Given the description of an element on the screen output the (x, y) to click on. 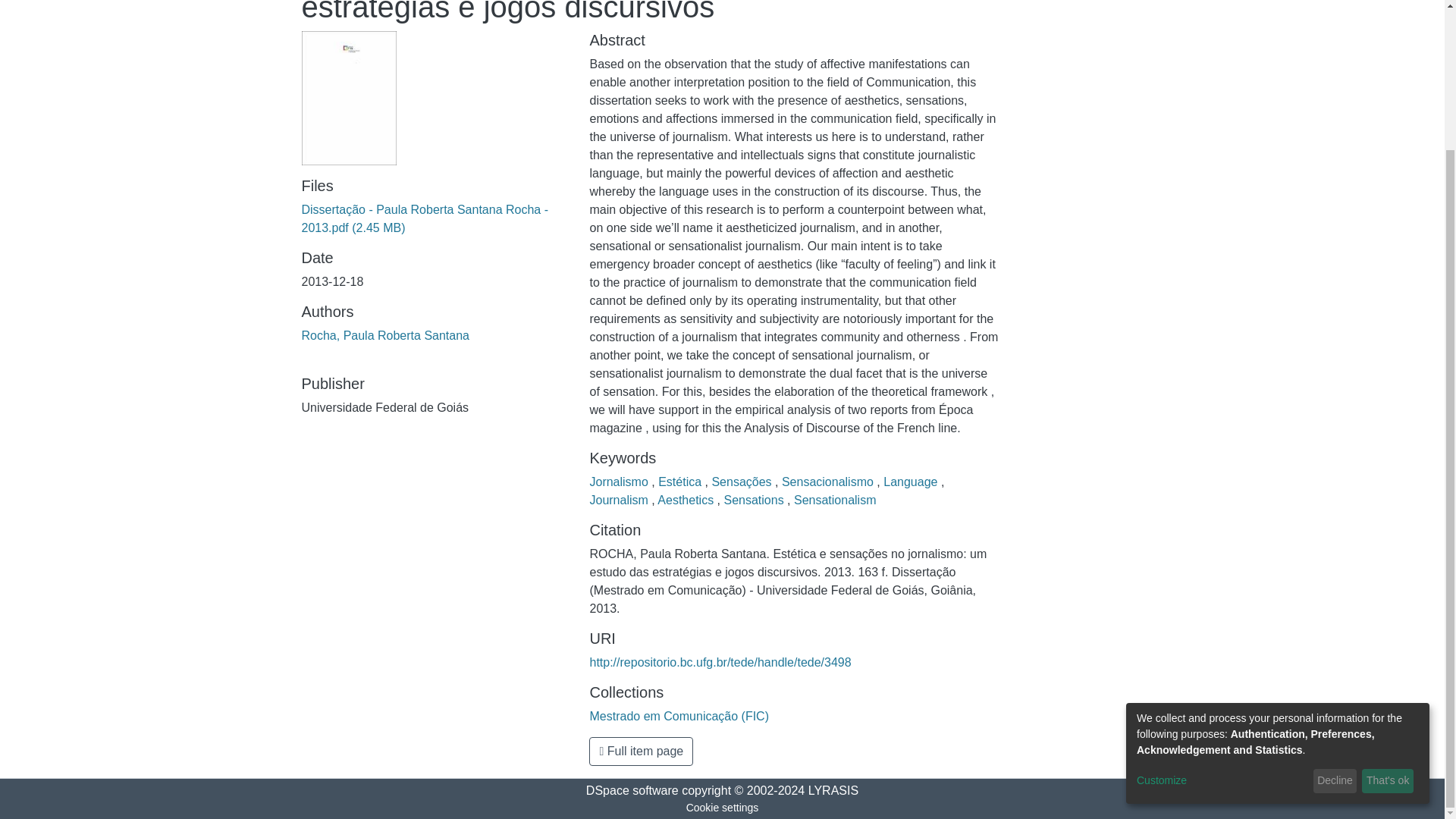
Language (911, 481)
Aesthetics (687, 499)
Journalism (619, 499)
Sensacionalismo (828, 481)
Jornalismo (619, 481)
DSpace software (632, 789)
Rocha, Paula Roberta Santana (384, 335)
Sensations (755, 499)
LYRASIS (833, 789)
Sensationalism (834, 499)
Full item page (641, 751)
